Given the description of an element on the screen output the (x, y) to click on. 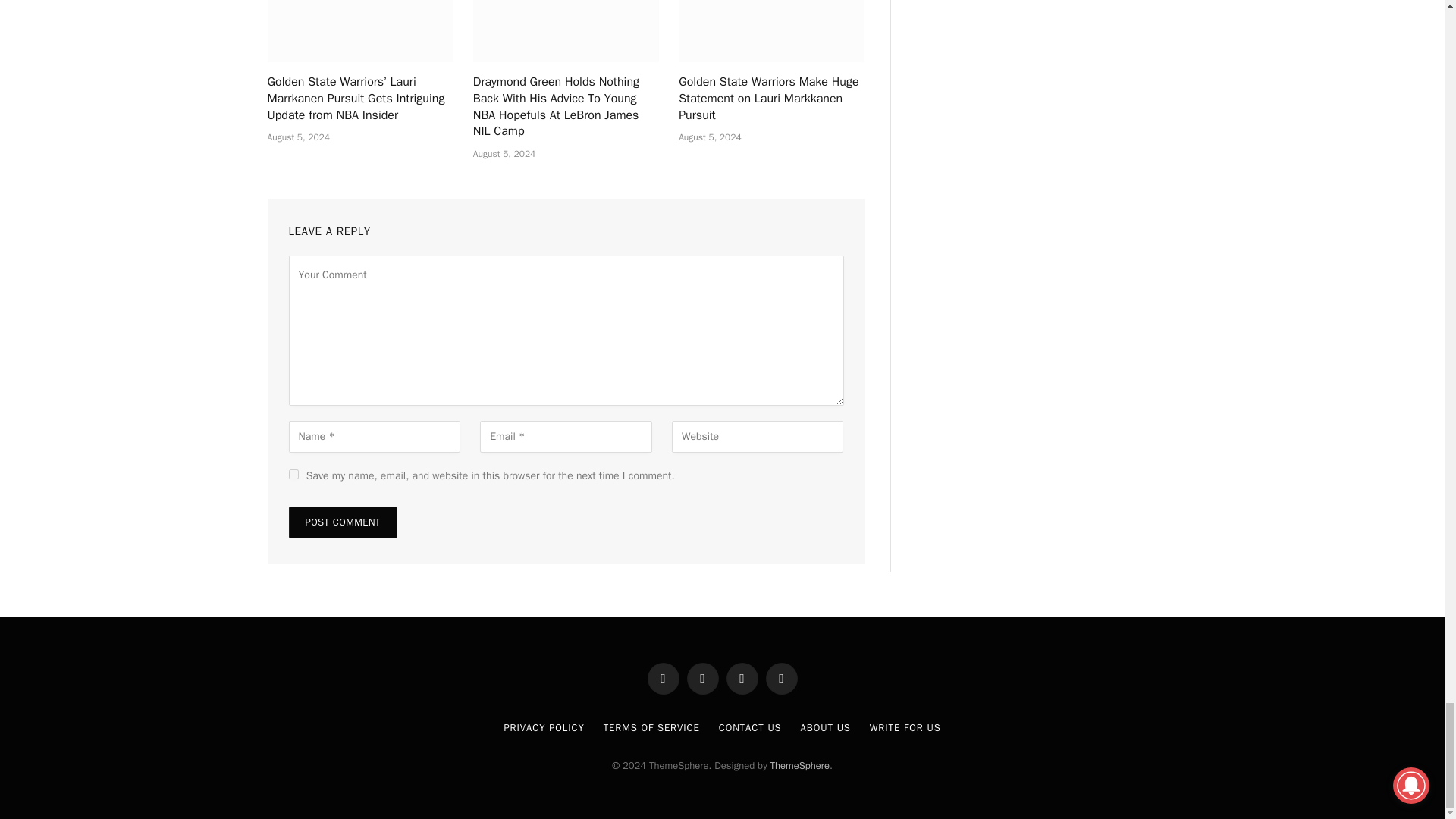
Post Comment (342, 522)
yes (293, 474)
